Given the description of an element on the screen output the (x, y) to click on. 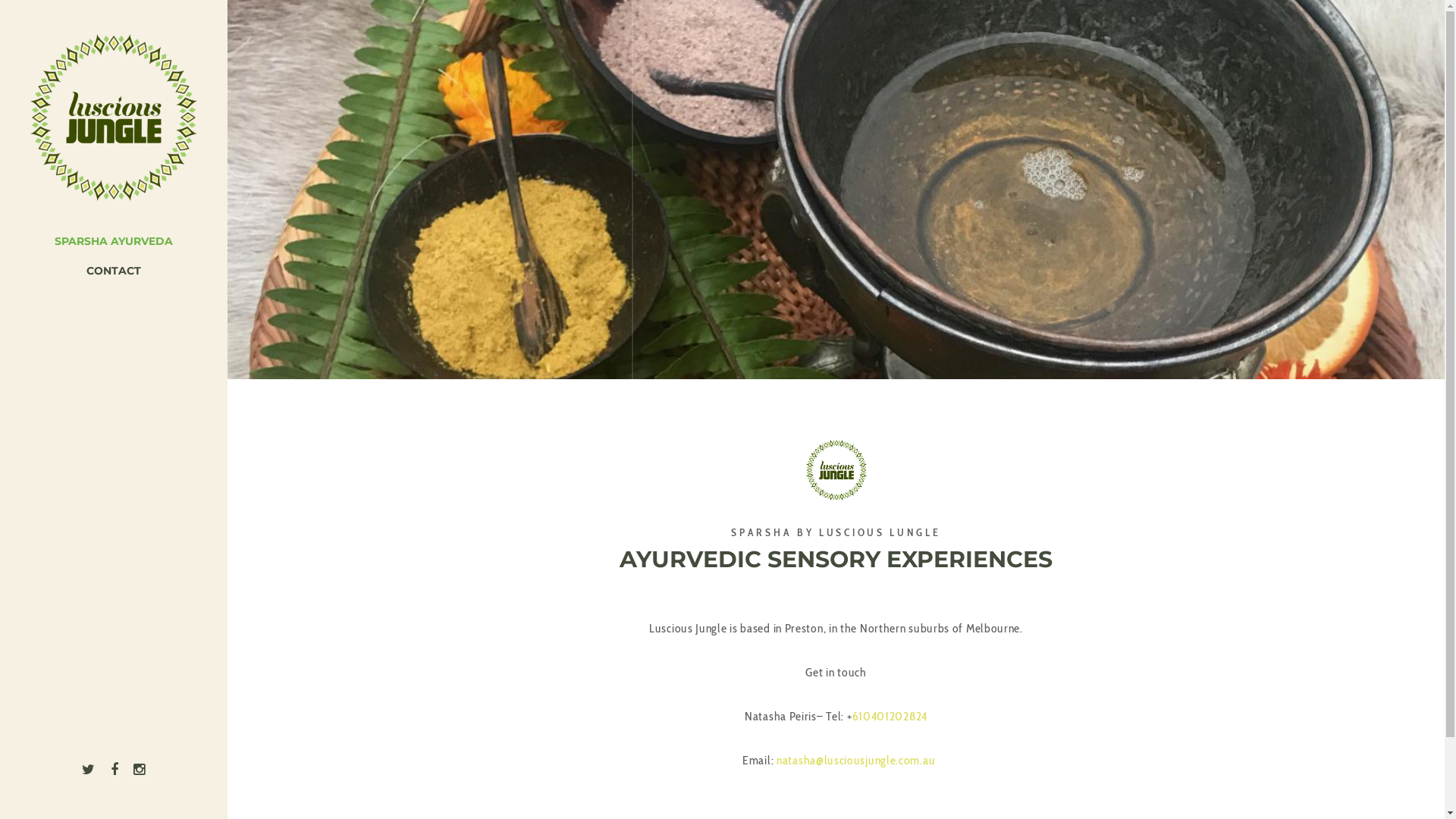
610401202824 Element type: text (889, 716)
natasha@lusciousjungle.com.au Element type: text (855, 760)
CONTACT Element type: text (113, 270)
SPARSHA AYURVEDA Element type: text (113, 241)
